Given the description of an element on the screen output the (x, y) to click on. 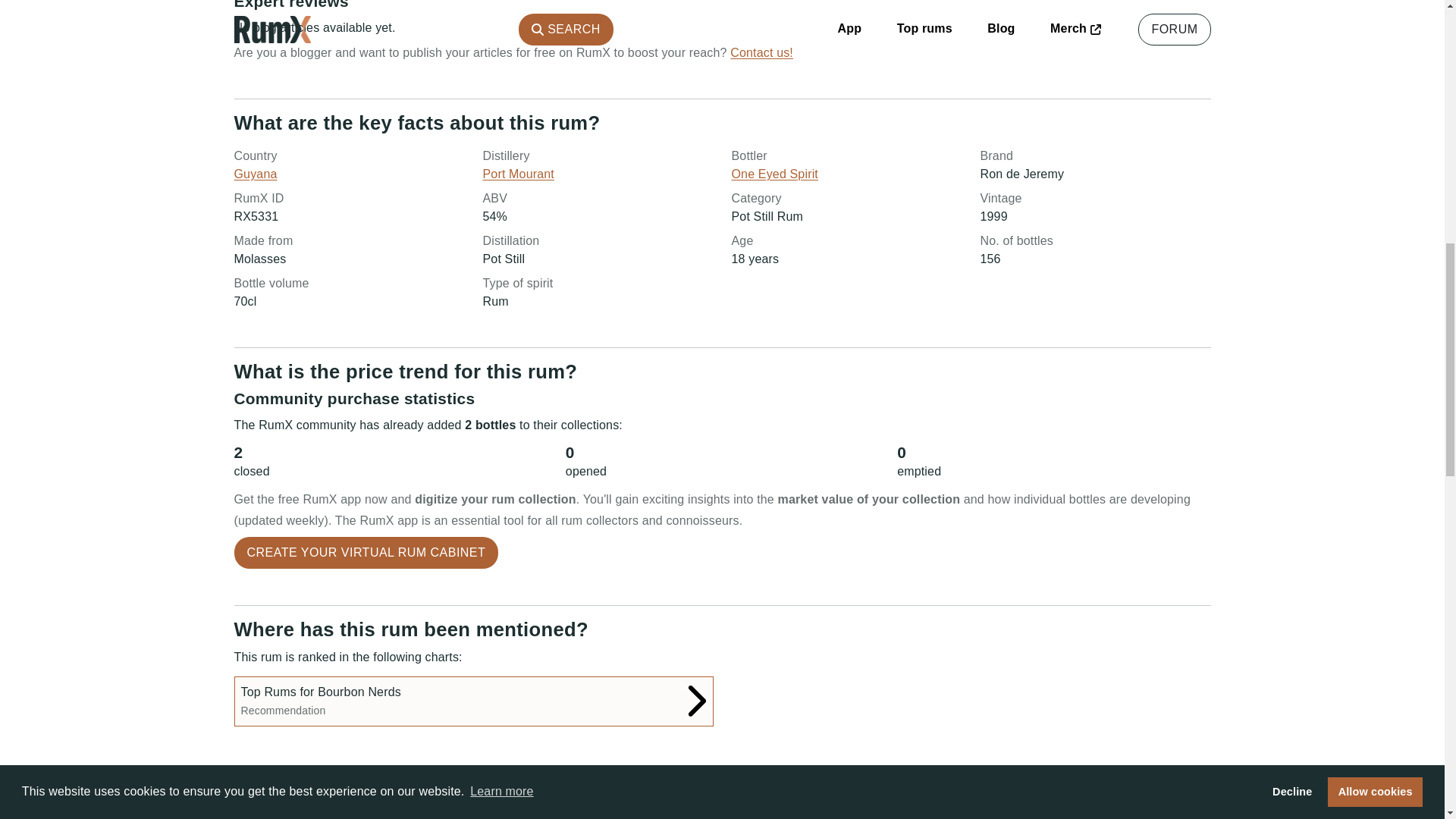
Guyana (254, 173)
Contact us! (761, 51)
One Eyed Spirit (773, 173)
CREATE YOUR VIRTUAL RUM CABINET (364, 552)
Port Mourant (472, 701)
